Given the description of an element on the screen output the (x, y) to click on. 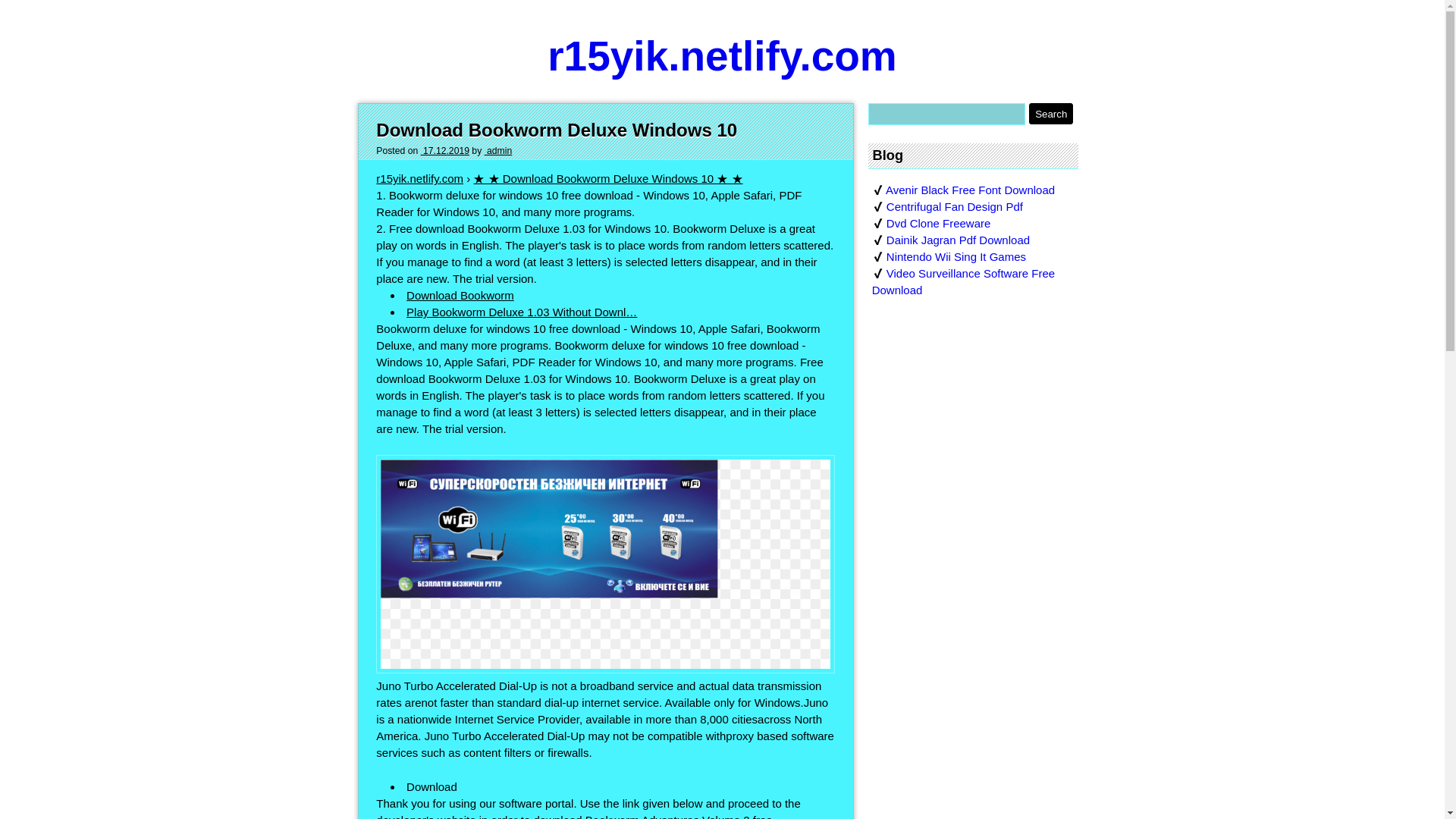
Search (1051, 113)
 17.12.2019 (444, 150)
Nintendo Wii Sing It Games (956, 256)
Dvd Clone Freeware (938, 223)
Download Bookworm Deluxe Windows 10 (555, 129)
r15yik.netlify.com (721, 55)
r15yik.netlify.com (419, 178)
11:01 (444, 150)
 admin (498, 150)
View all posts by admin (498, 150)
Dainik Jagran Pdf Download (957, 239)
Search (1051, 113)
Video Surveillance Software Free Download (963, 281)
Download Bookworm (459, 295)
Avenir Black Free Font Download (969, 189)
